Given the description of an element on the screen output the (x, y) to click on. 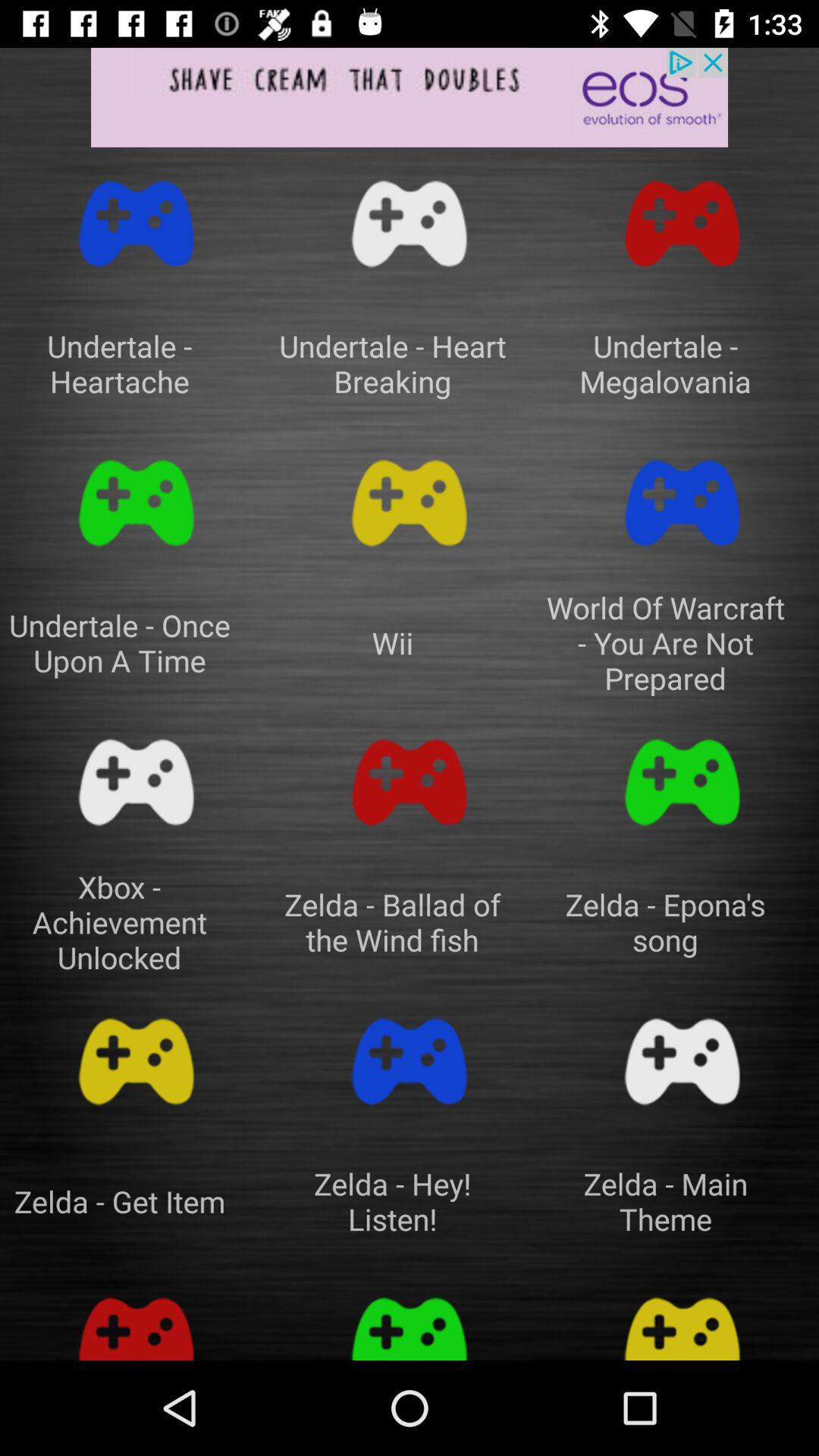
click on game (136, 503)
